Given the description of an element on the screen output the (x, y) to click on. 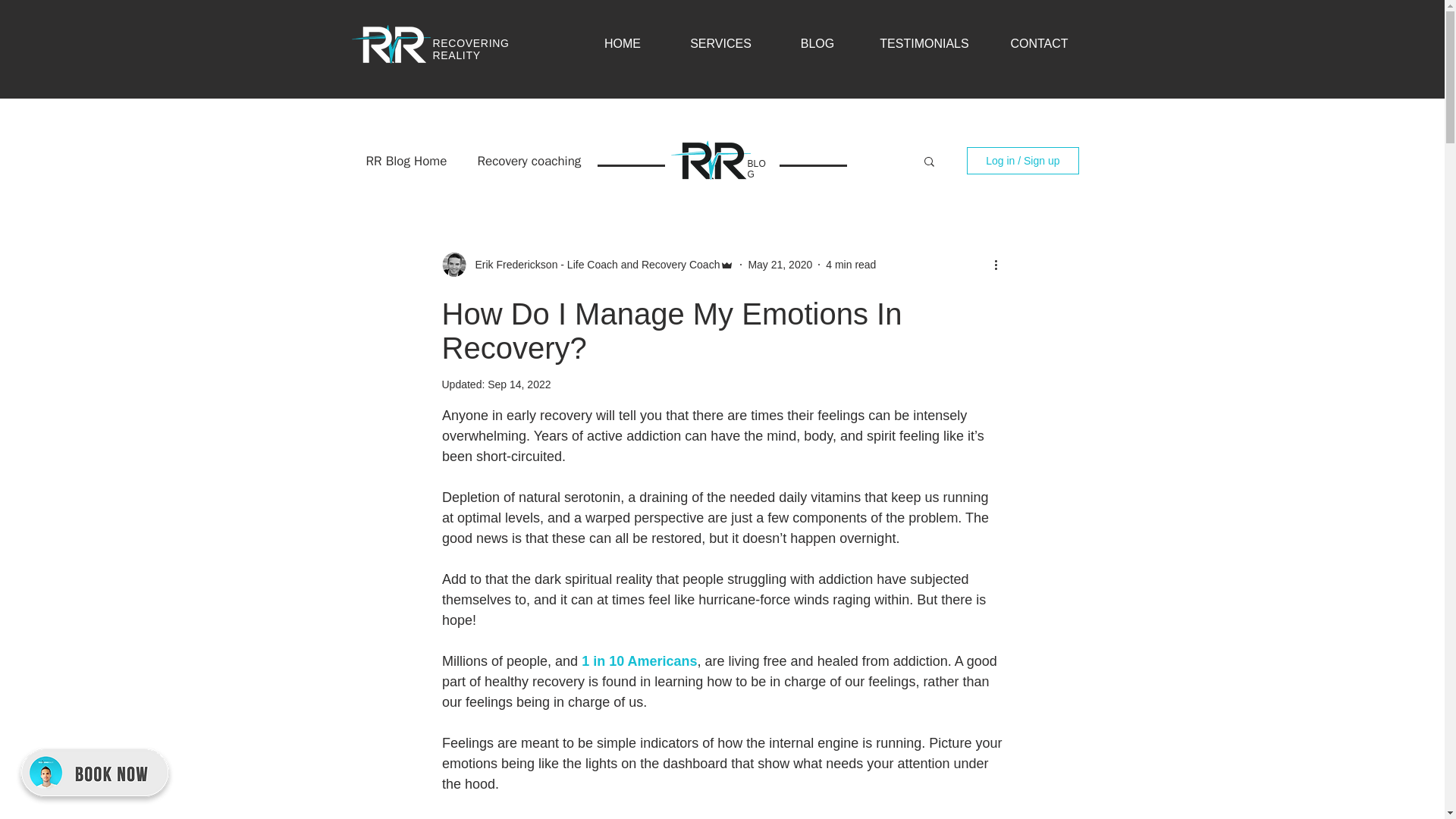
SERVICES (719, 44)
Sep 14, 2022 (518, 384)
May 21, 2020 (780, 263)
1 in 10 Americans (638, 661)
TESTIMONIALS (924, 44)
4 min read (850, 263)
Recovery coaching (528, 159)
HOME (623, 44)
Erik Frederickson - Life Coach and Recovery Coach (592, 263)
RR Blog Home (405, 159)
